Given the description of an element on the screen output the (x, y) to click on. 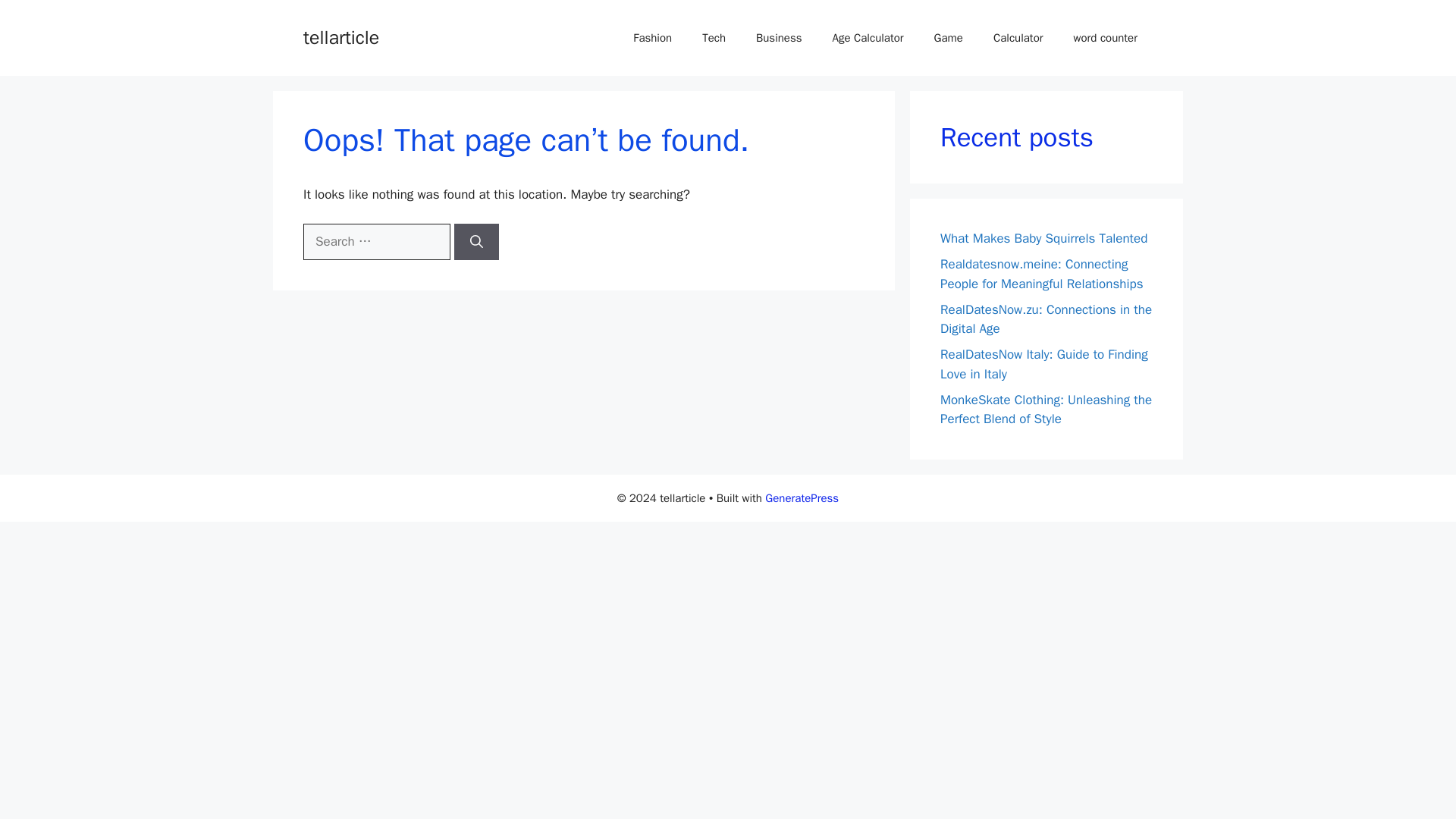
Age Calculator (867, 37)
Fashion (652, 37)
MonkeSkate Clothing: Unleashing the Perfect Blend of Style (1045, 408)
Game (948, 37)
Calculator (1018, 37)
RealDatesNow.zu: Connections in the Digital Age (1045, 319)
What Makes Baby Squirrels Talented (1043, 238)
word counter (1105, 37)
Business (778, 37)
